Given the description of an element on the screen output the (x, y) to click on. 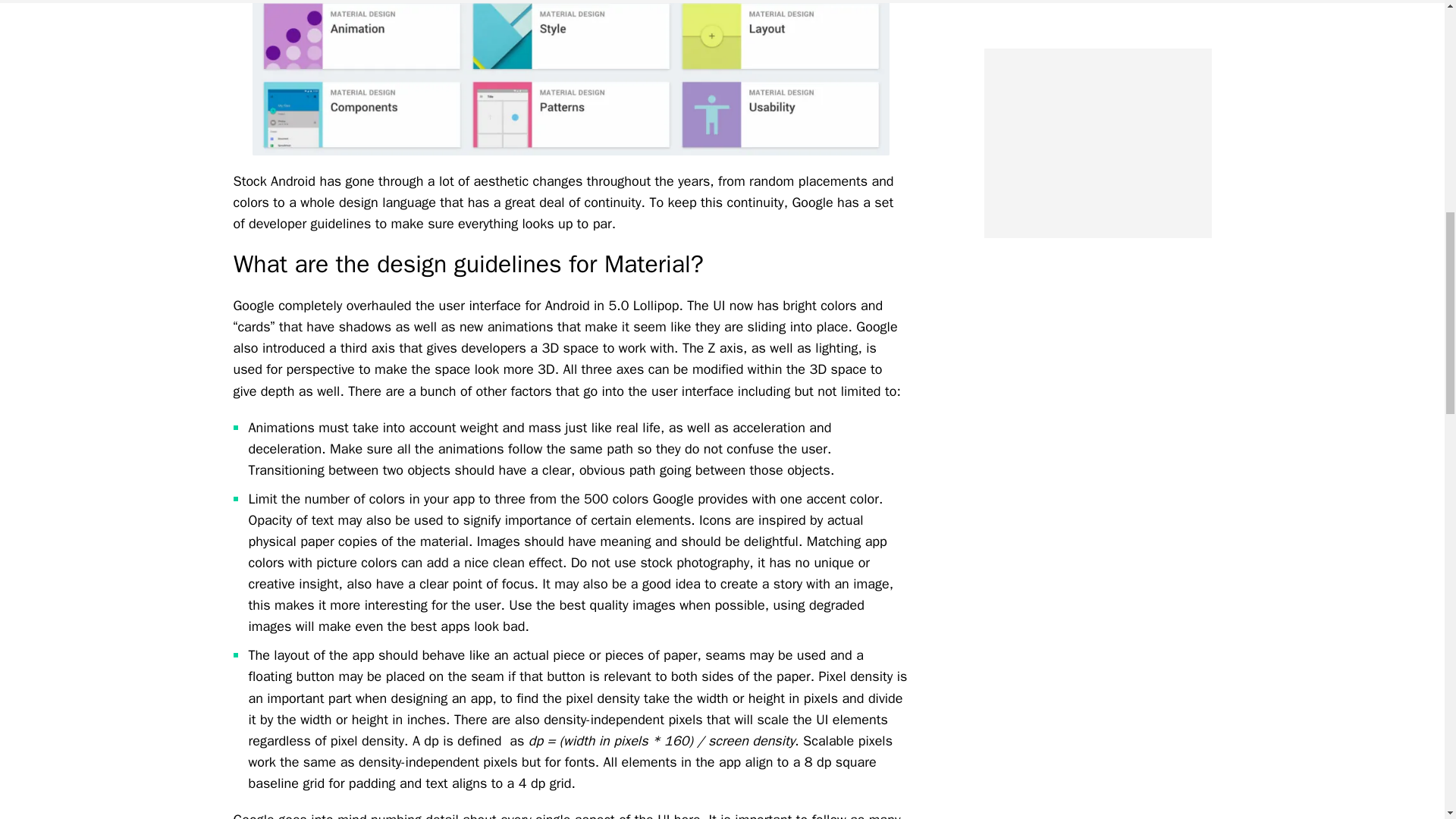
here (687, 815)
Design (569, 77)
